Given the description of an element on the screen output the (x, y) to click on. 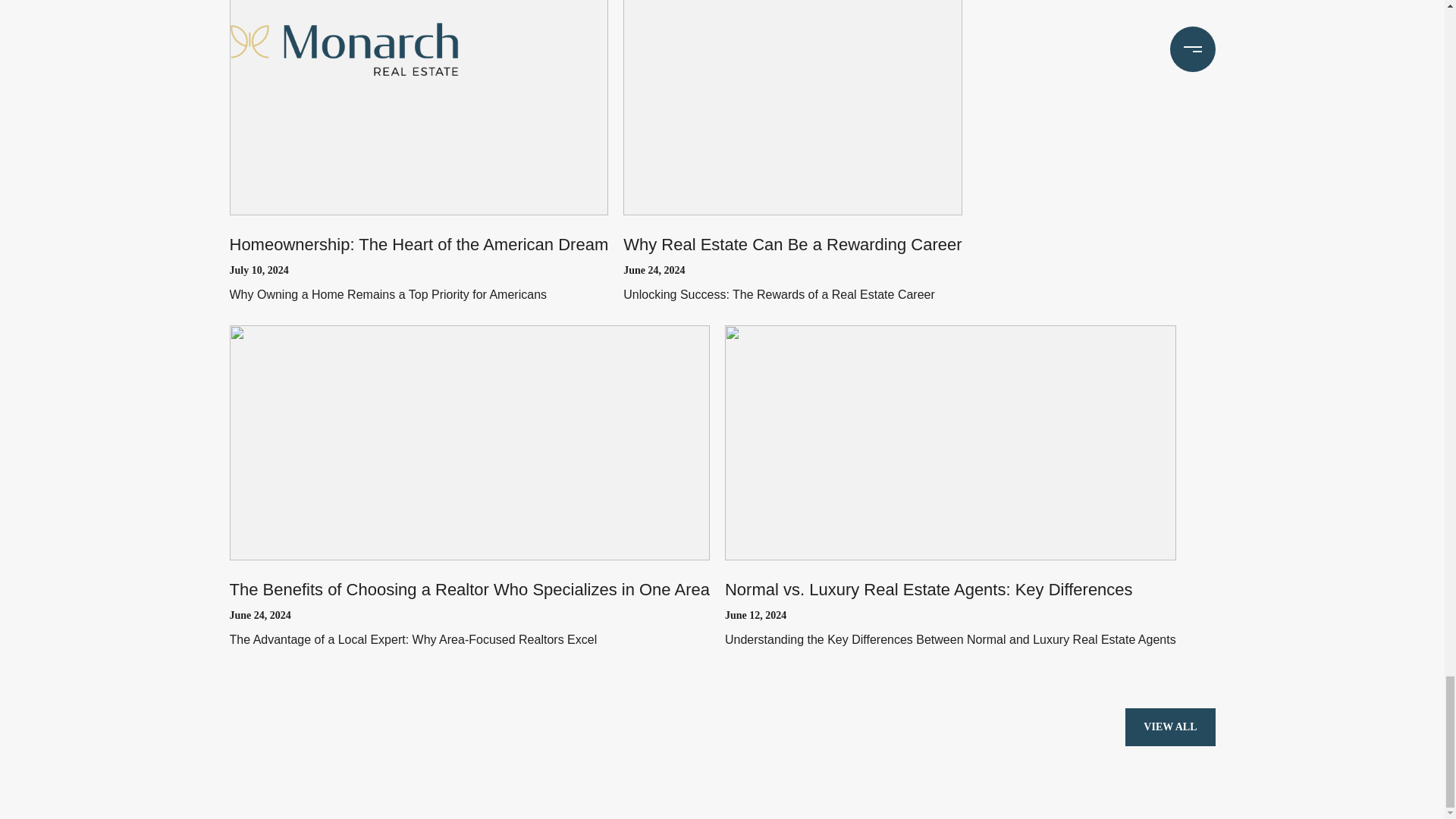
VIEW ALL (1169, 727)
